Given the description of an element on the screen output the (x, y) to click on. 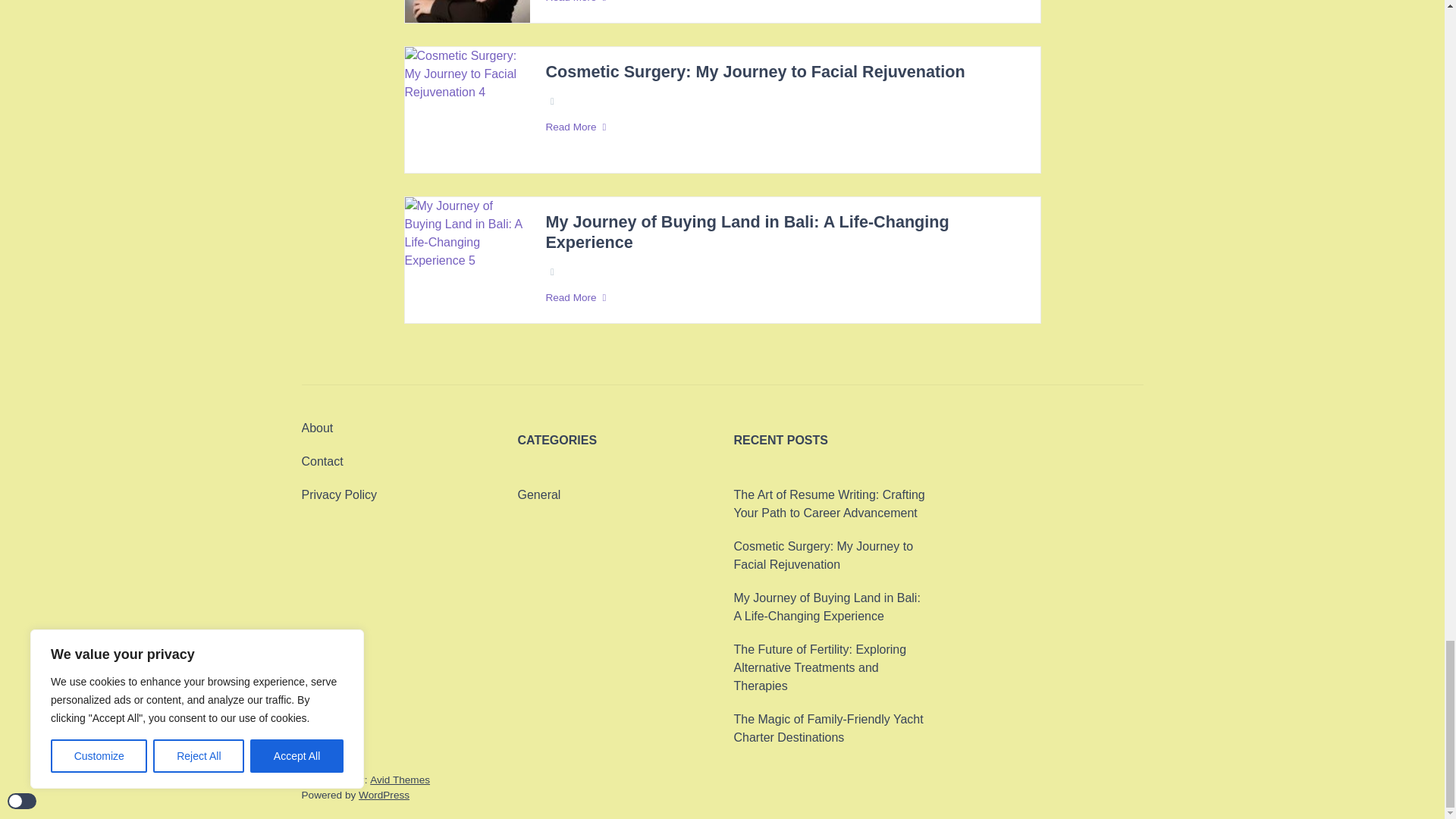
Cosmetic Surgery: My Journey to Facial Rejuvenation (753, 72)
Read More (784, 297)
Read More (784, 127)
